Given the description of an element on the screen output the (x, y) to click on. 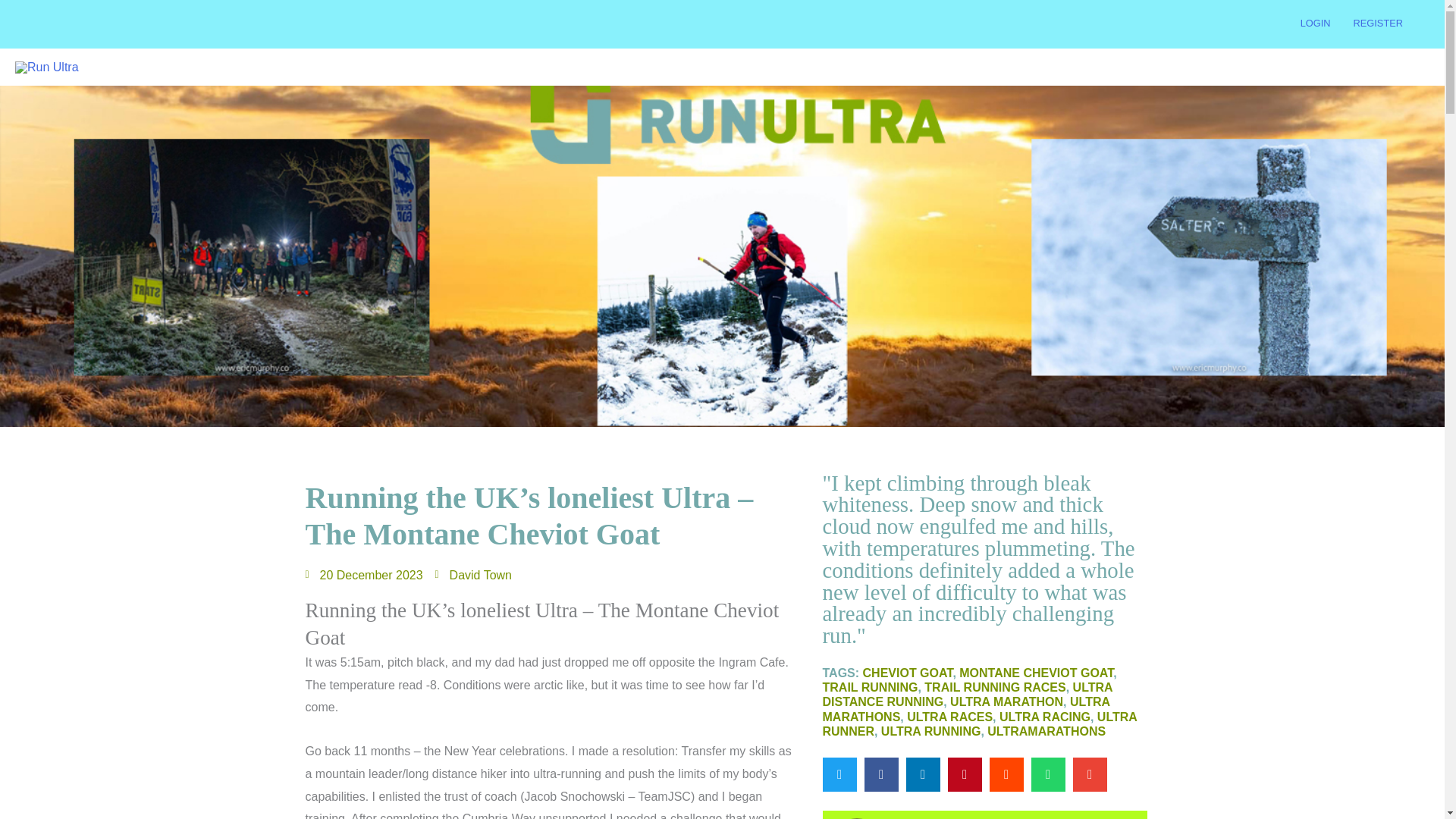
ULTRA RUNNING (930, 730)
GEAR REVIEWS (971, 66)
ULTRAMARATHONS (1046, 730)
ULTRA RUNNER (979, 723)
ULTRA RACING (1044, 716)
TRAIL RUNNING RACES (994, 686)
TRAINING (1062, 66)
FIND EVENTS (815, 66)
ULTRA DISTANCE RUNNING (967, 694)
CONTACT US (1382, 66)
